Given the description of an element on the screen output the (x, y) to click on. 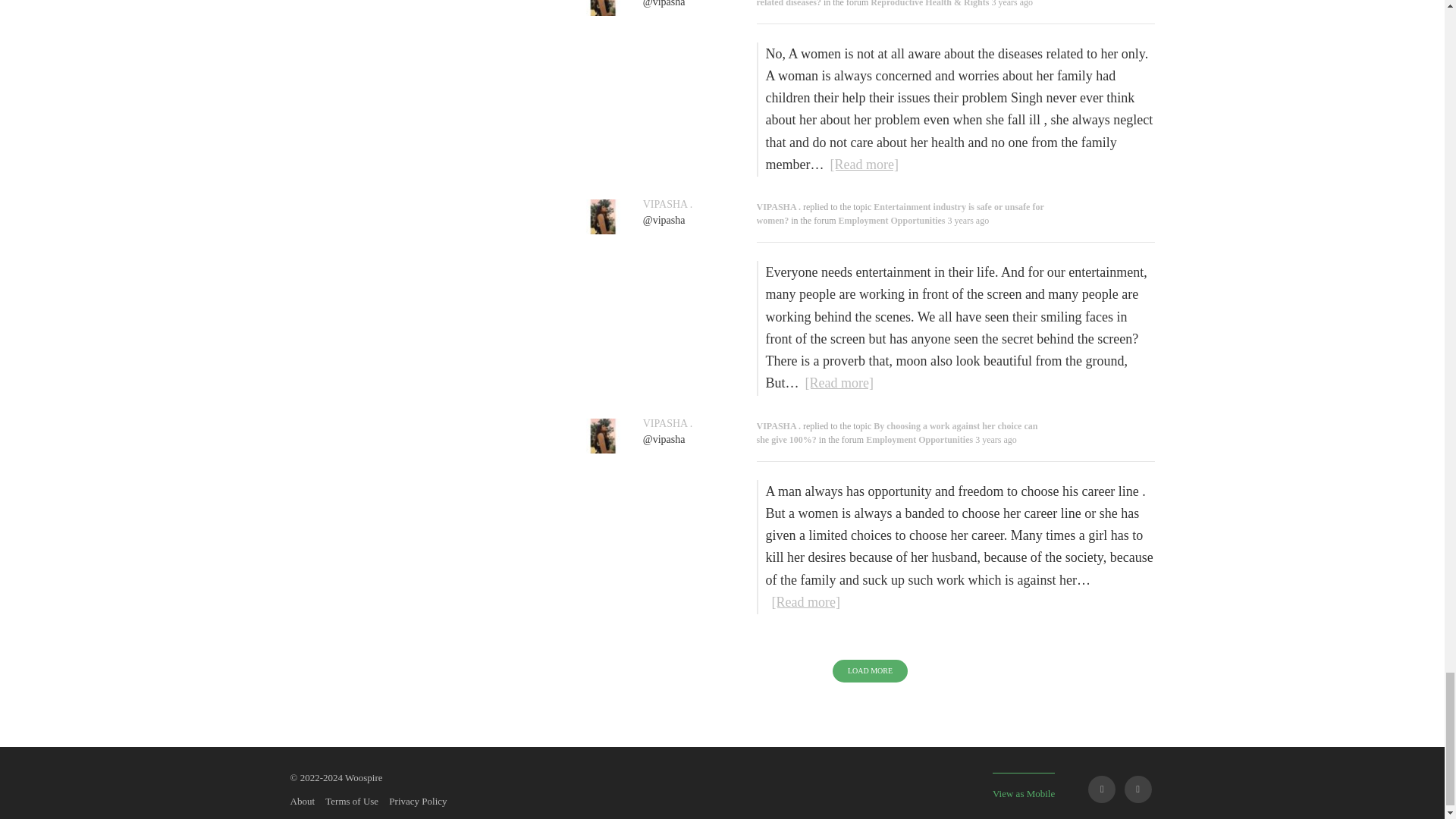
twitter (1137, 789)
View as Mobile (1023, 786)
facebook (1101, 789)
